Given the description of an element on the screen output the (x, y) to click on. 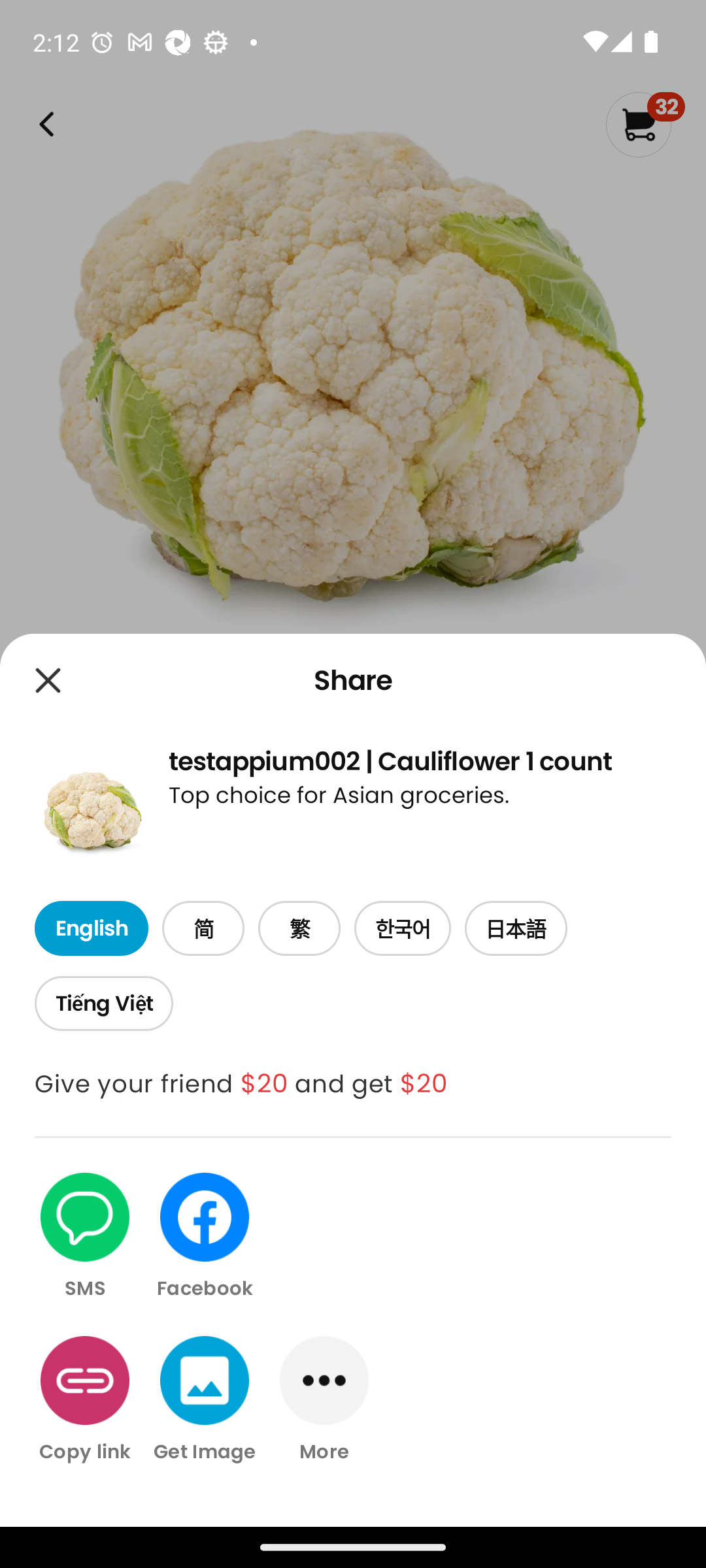
English (91, 928)
简 (203, 928)
繁 (299, 928)
한국어 (402, 928)
日本語 (515, 928)
Tiếng Việt (103, 1003)
SMS (85, 1236)
Facebook (204, 1236)
Copy link (85, 1399)
Get Image (204, 1399)
More (324, 1399)
